Given the description of an element on the screen output the (x, y) to click on. 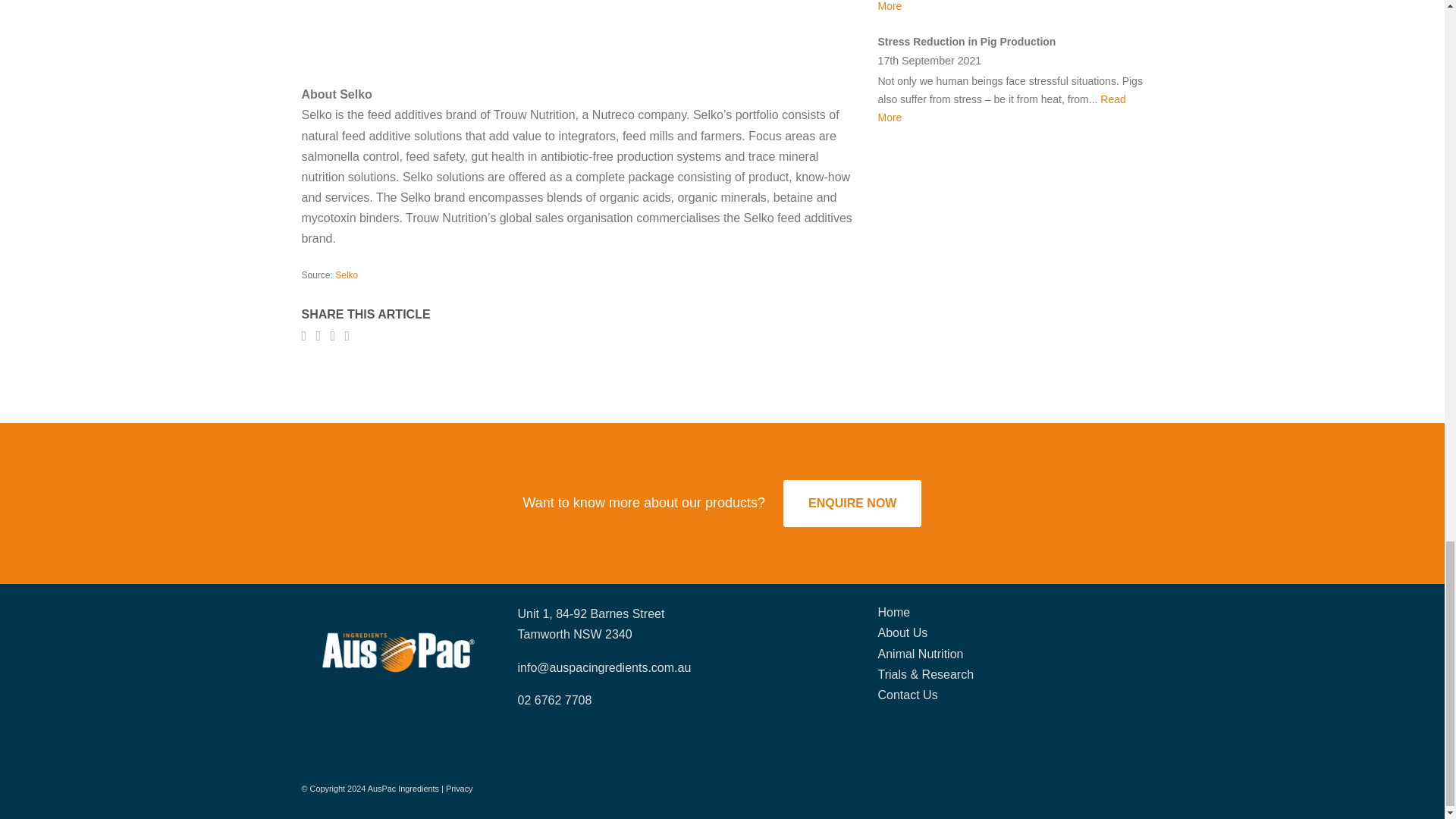
Selko (346, 275)
